Given the description of an element on the screen output the (x, y) to click on. 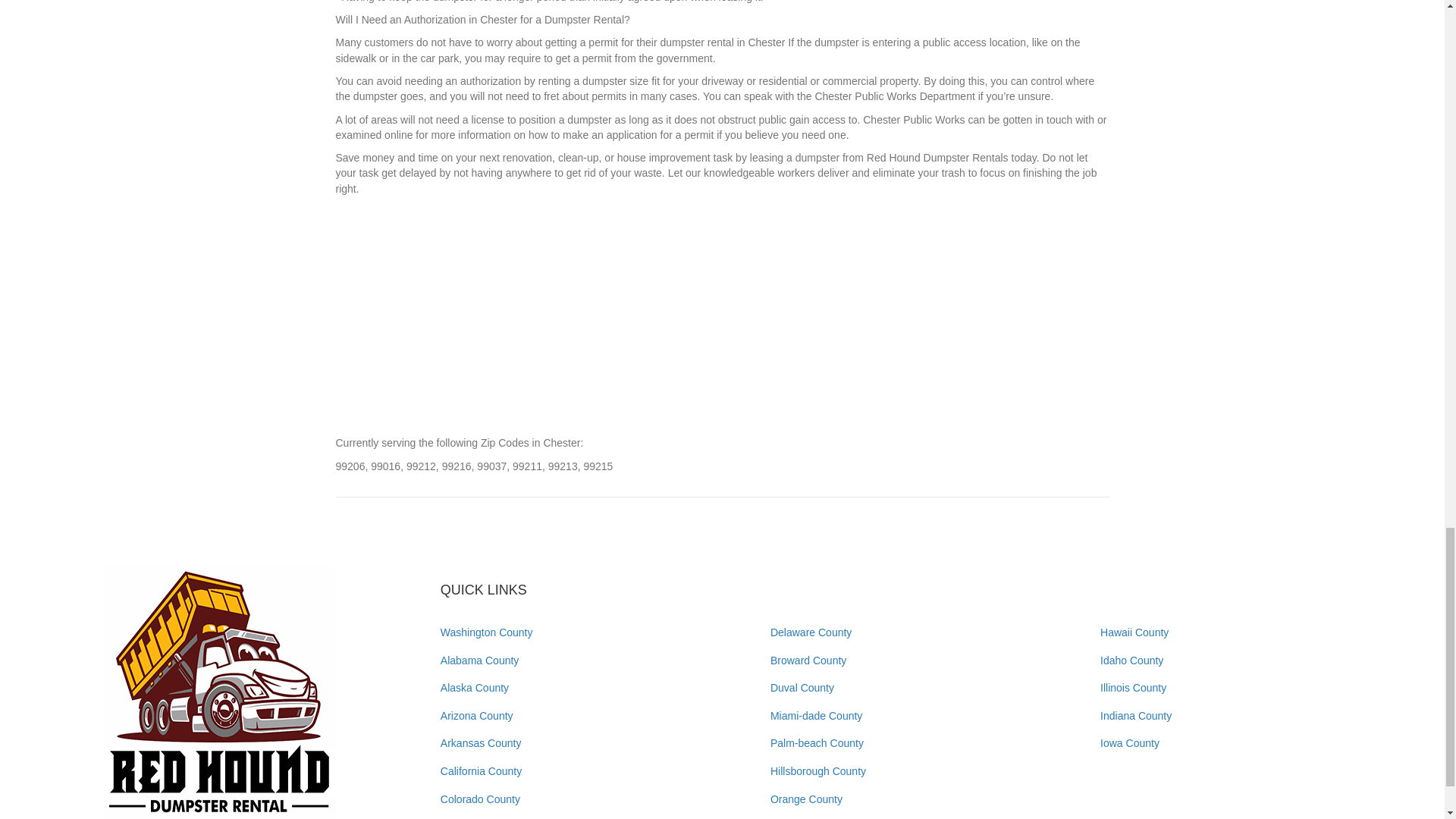
redhounddumpster (219, 692)
Washington County (486, 632)
Alabama County (480, 660)
